Given the description of an element on the screen output the (x, y) to click on. 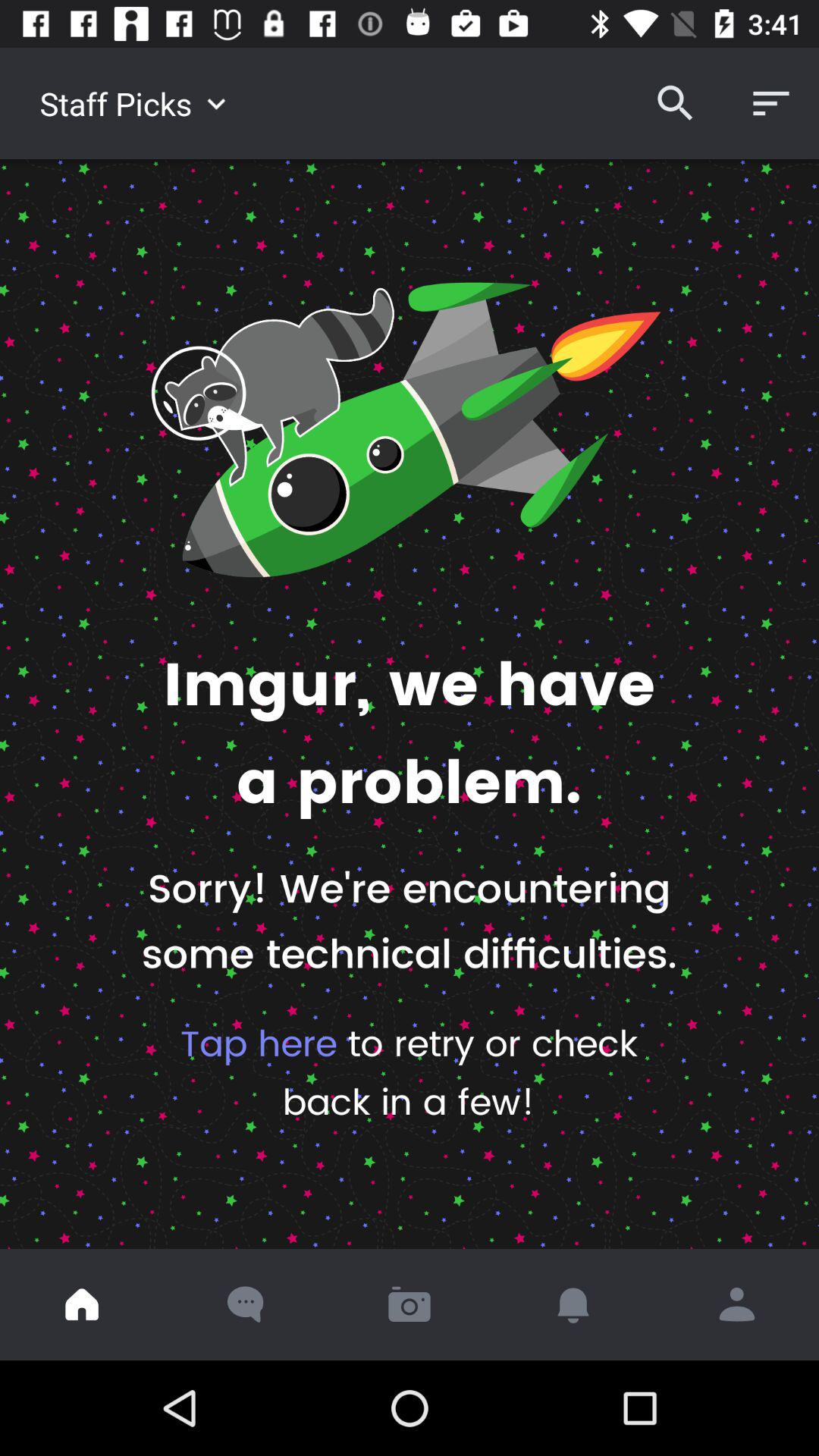
select the icon below the tap here to icon (737, 1304)
